Given the description of an element on the screen output the (x, y) to click on. 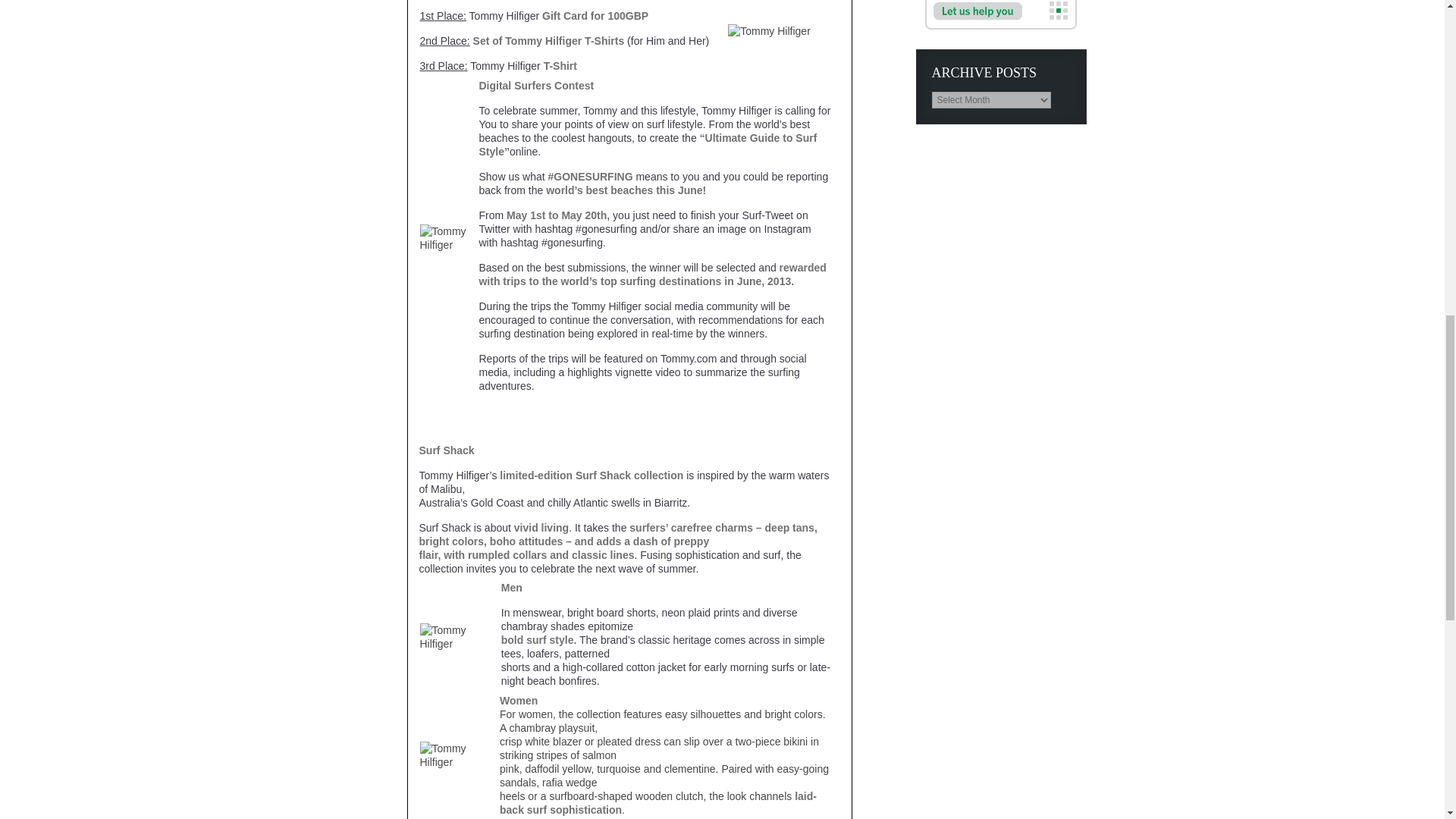
Surf Shack (446, 450)
Men (511, 587)
Women (518, 700)
